Given the description of an element on the screen output the (x, y) to click on. 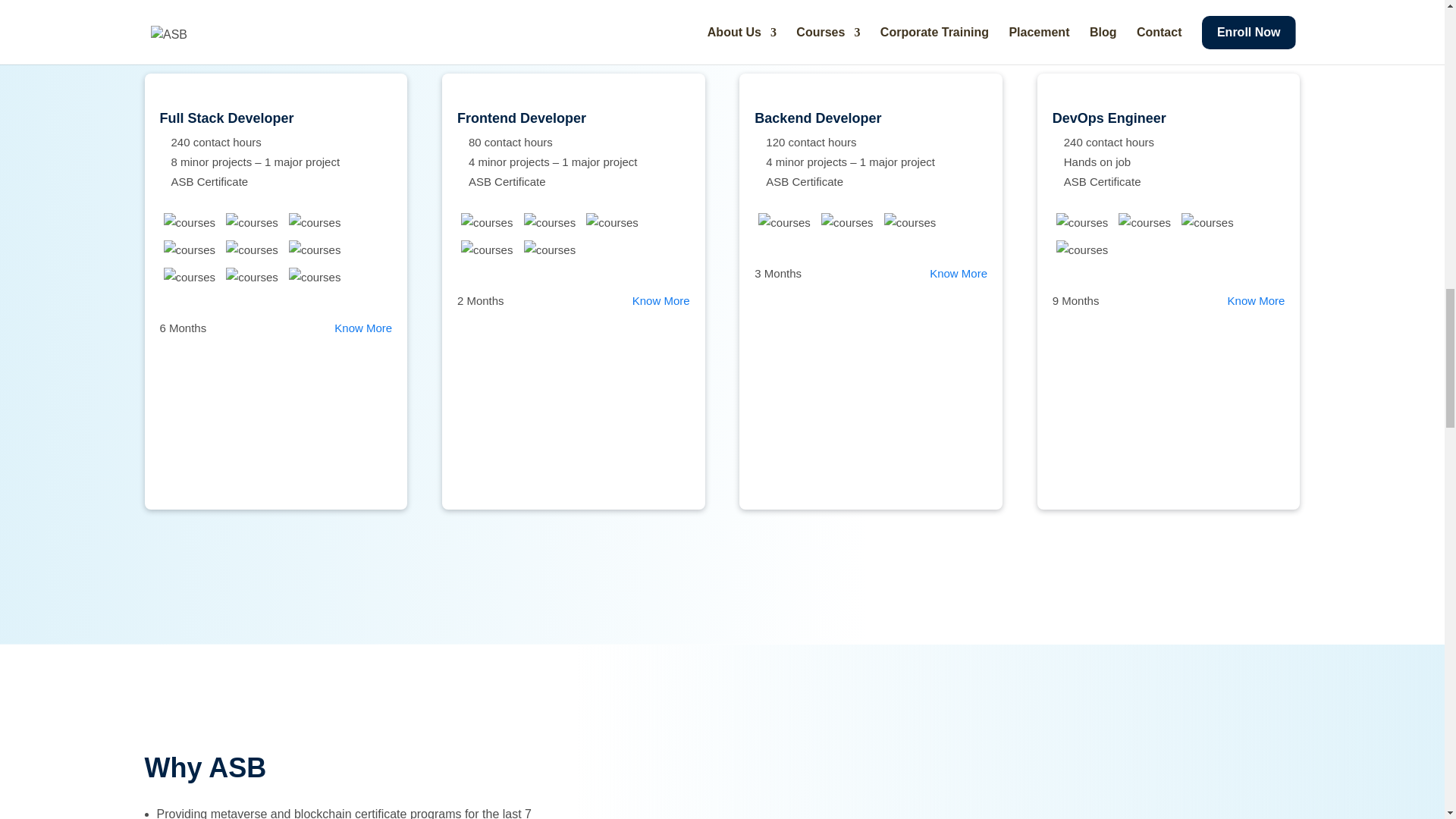
Know More (1256, 300)
Know More (362, 327)
Know More (958, 273)
Know More (660, 300)
